Given the description of an element on the screen output the (x, y) to click on. 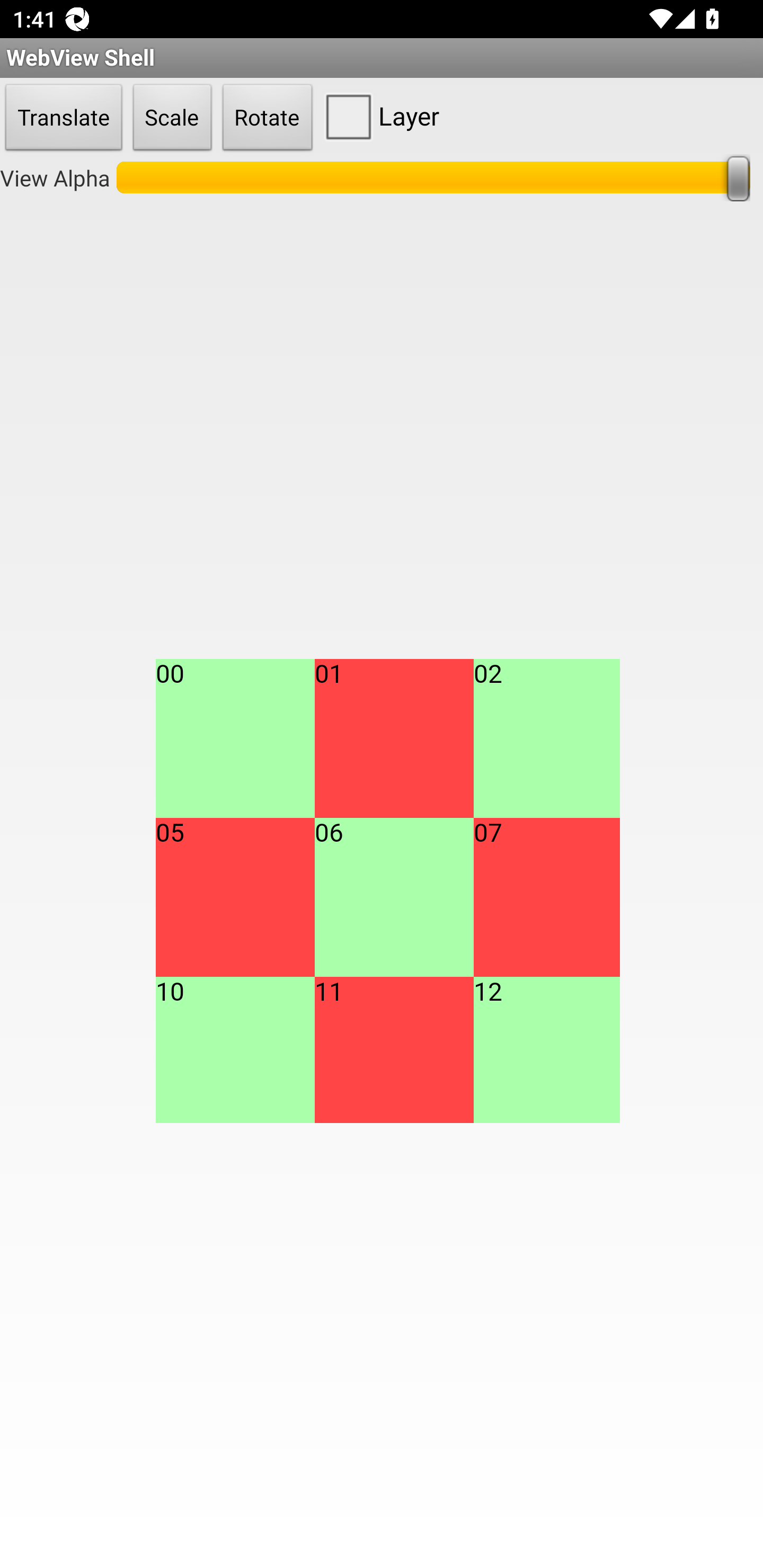
Layer (378, 115)
Translate (63, 118)
Scale (172, 118)
Rotate (267, 118)
